Given the description of an element on the screen output the (x, y) to click on. 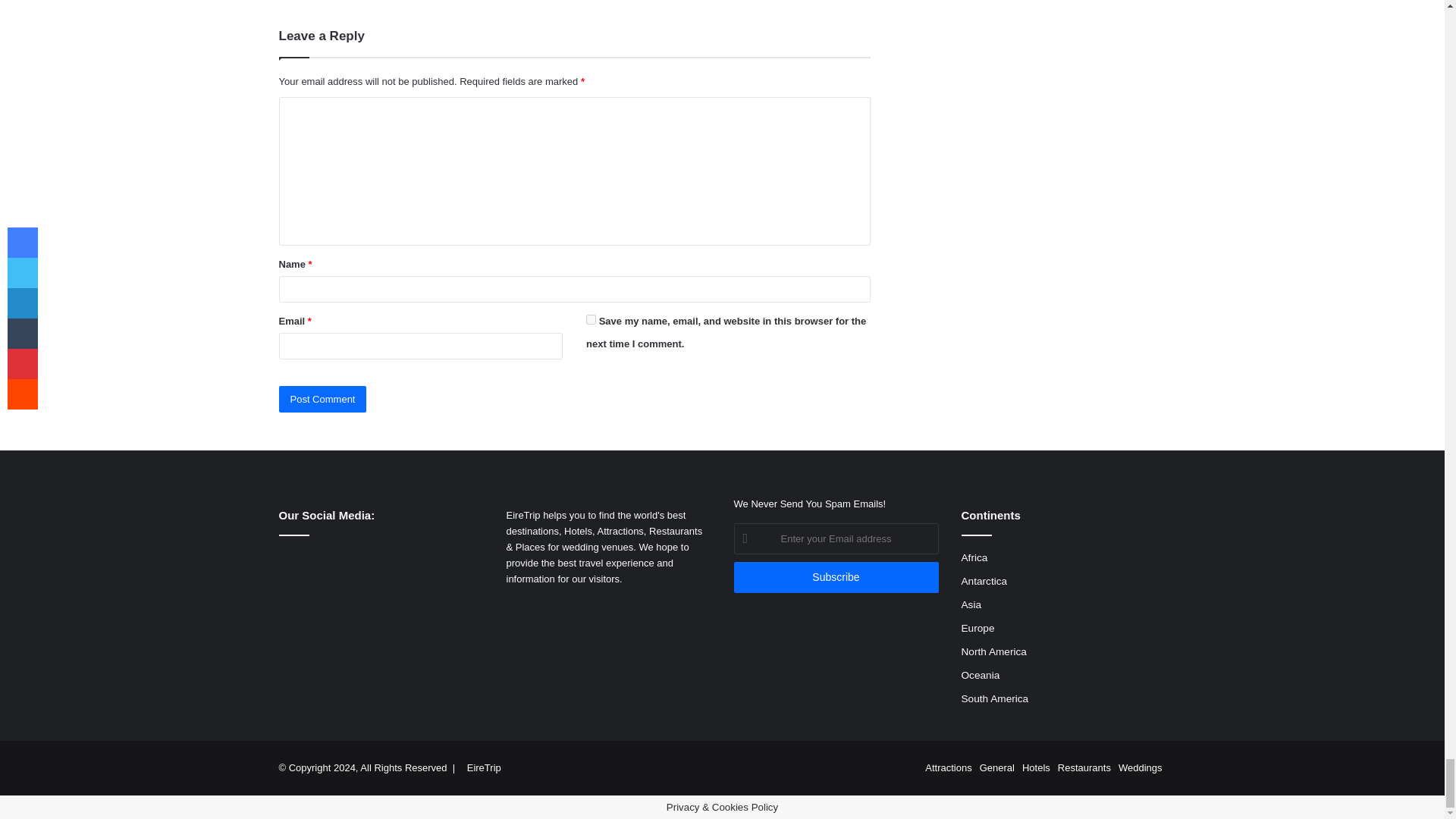
yes (590, 319)
Subscribe (836, 576)
Post Comment (322, 398)
